Given the description of an element on the screen output the (x, y) to click on. 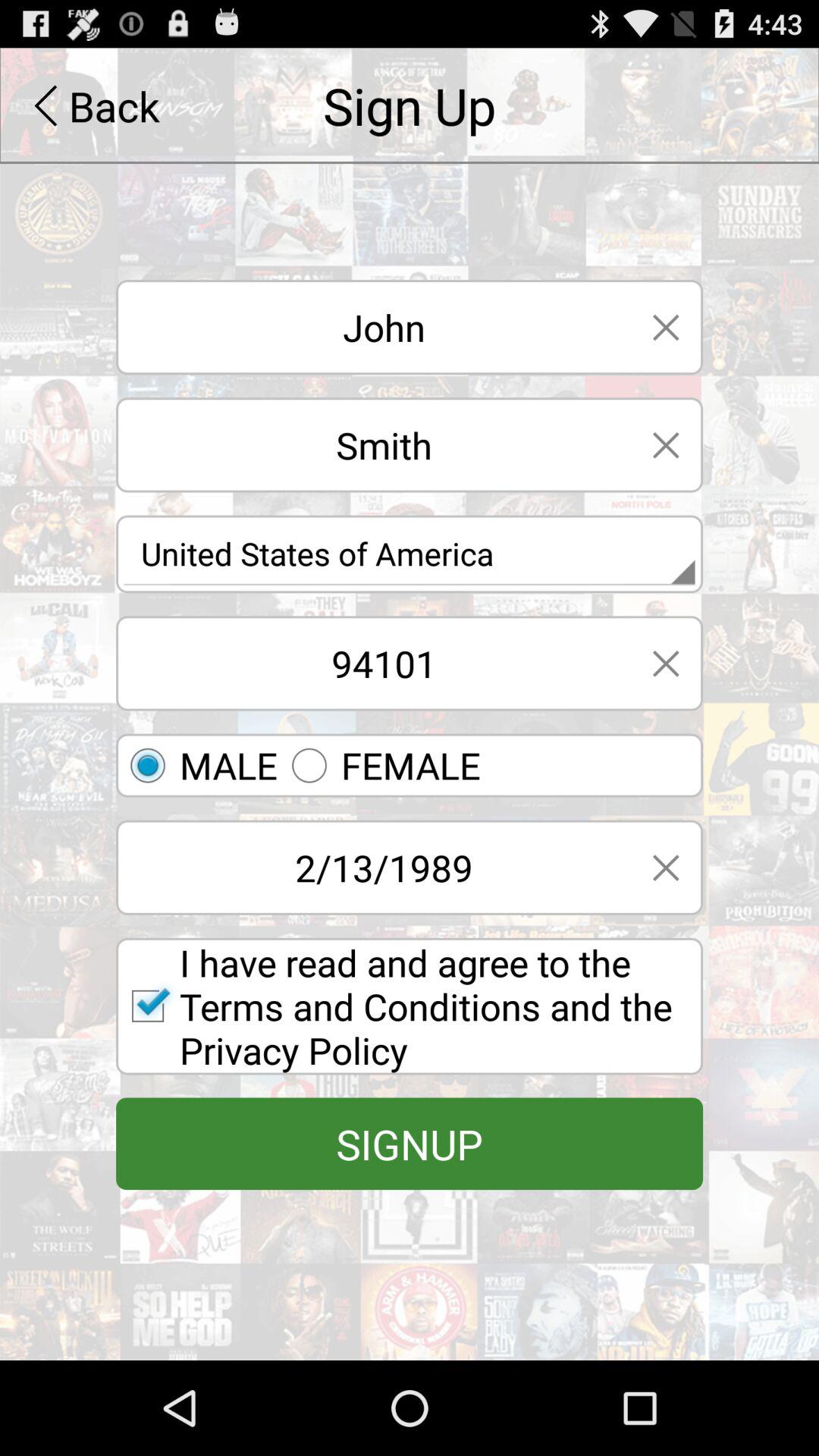
close option (665, 327)
